Given the description of an element on the screen output the (x, y) to click on. 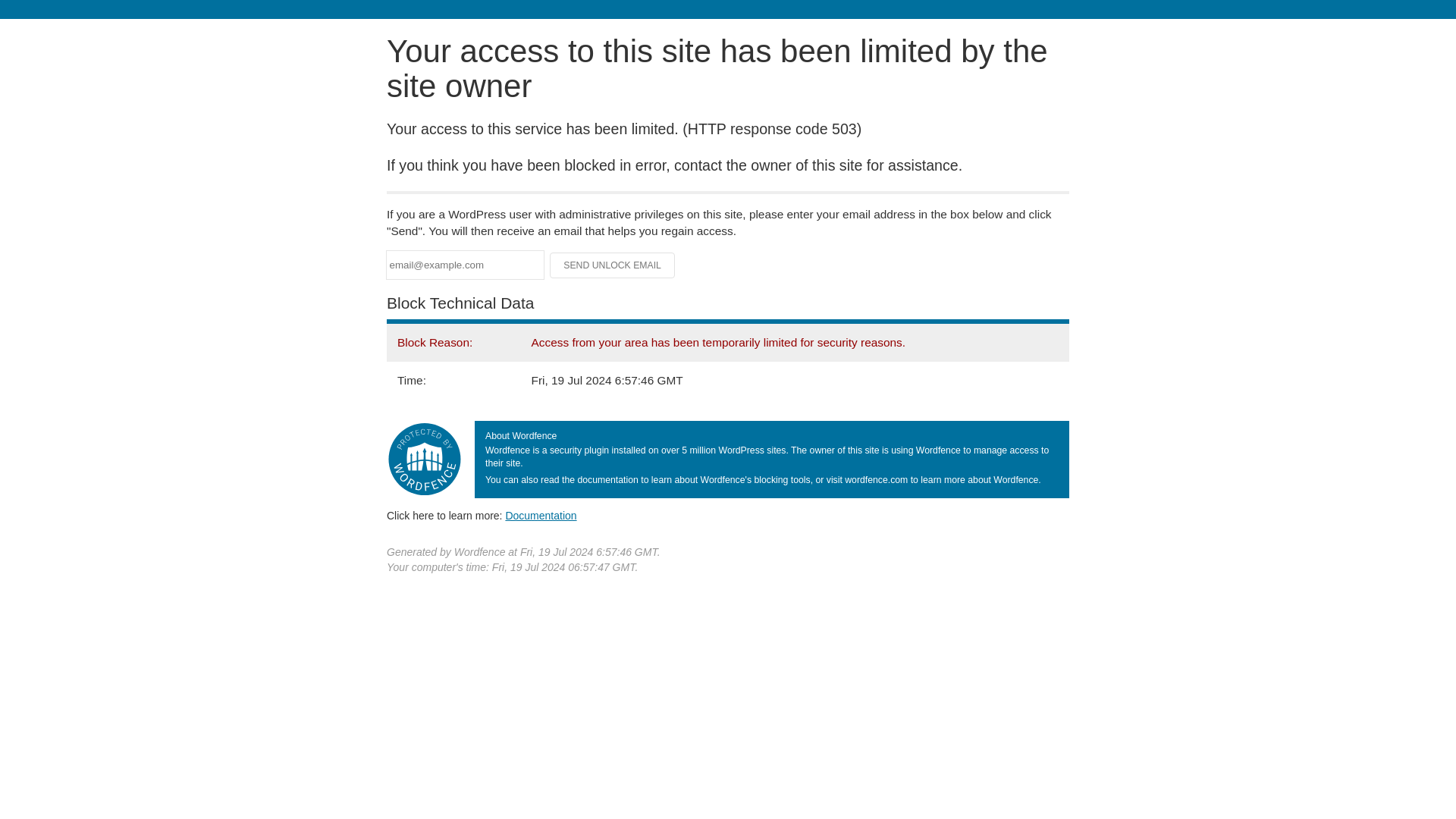
Send Unlock Email (612, 265)
Documentation (540, 515)
Send Unlock Email (612, 265)
